Given the description of an element on the screen output the (x, y) to click on. 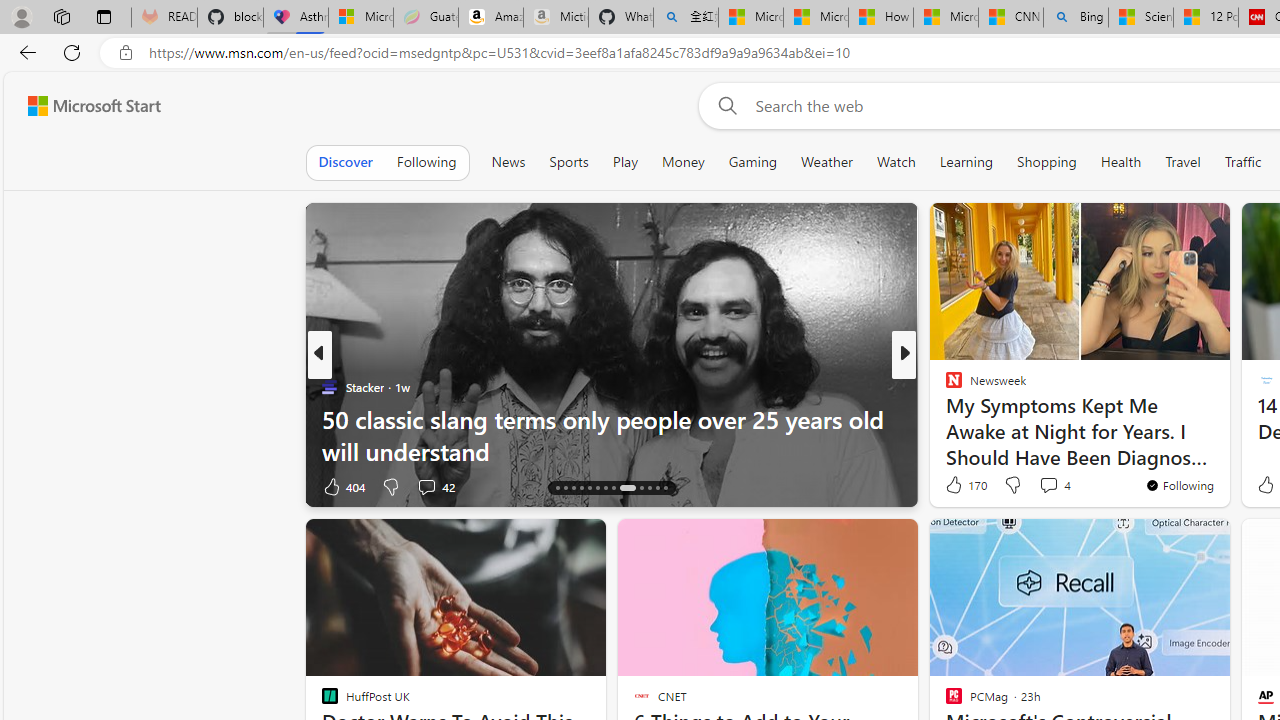
Kinda Frugal (944, 418)
View comments 5 Comment (1036, 485)
AutomationID: tab-26 (664, 487)
AutomationID: tab-24 (649, 487)
